Given the description of an element on the screen output the (x, y) to click on. 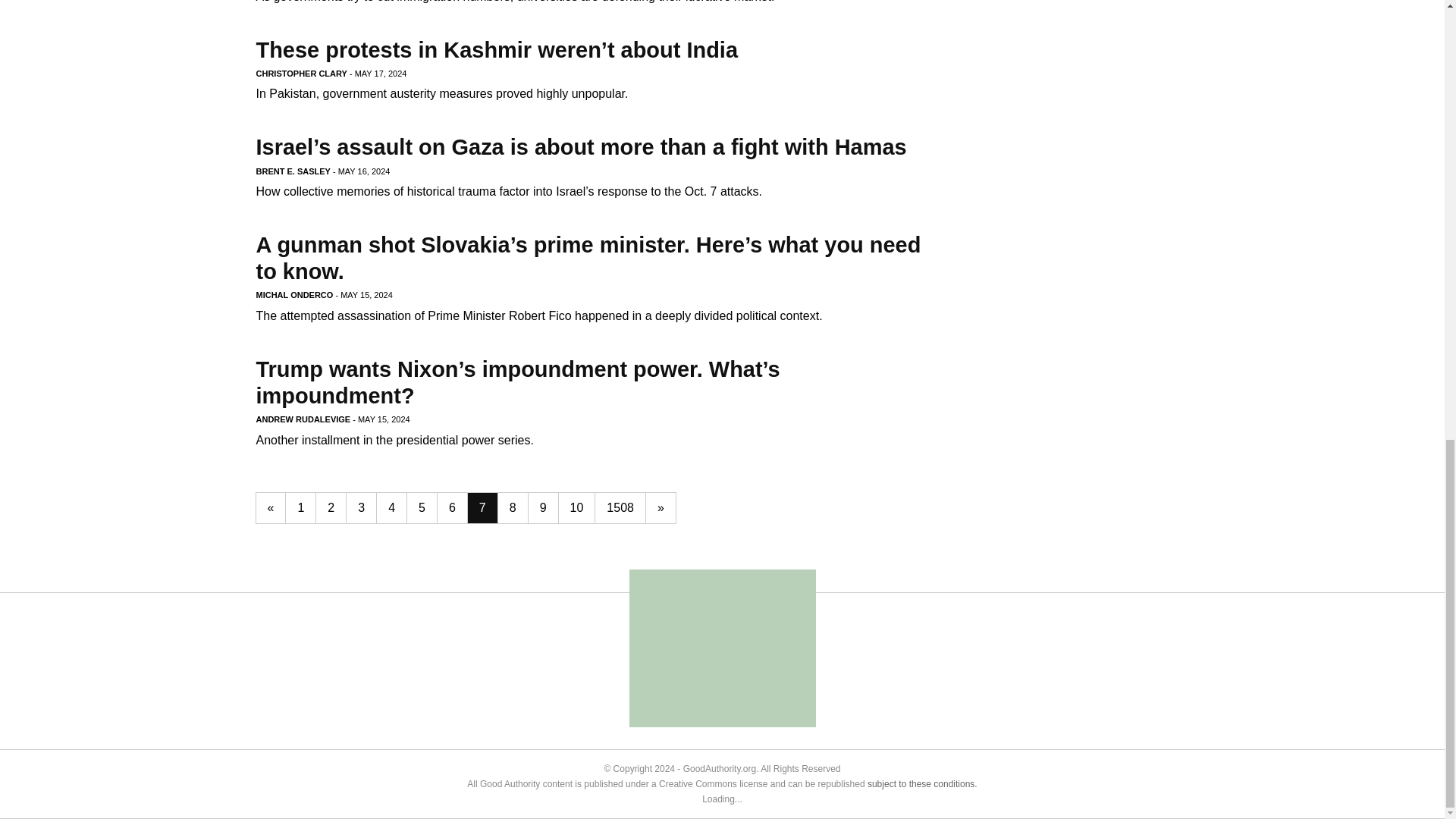
MICHAL ONDERCO (294, 294)
BRENT E. SASLEY (293, 171)
CHRISTOPHER CLARY (301, 72)
